Given the description of an element on the screen output the (x, y) to click on. 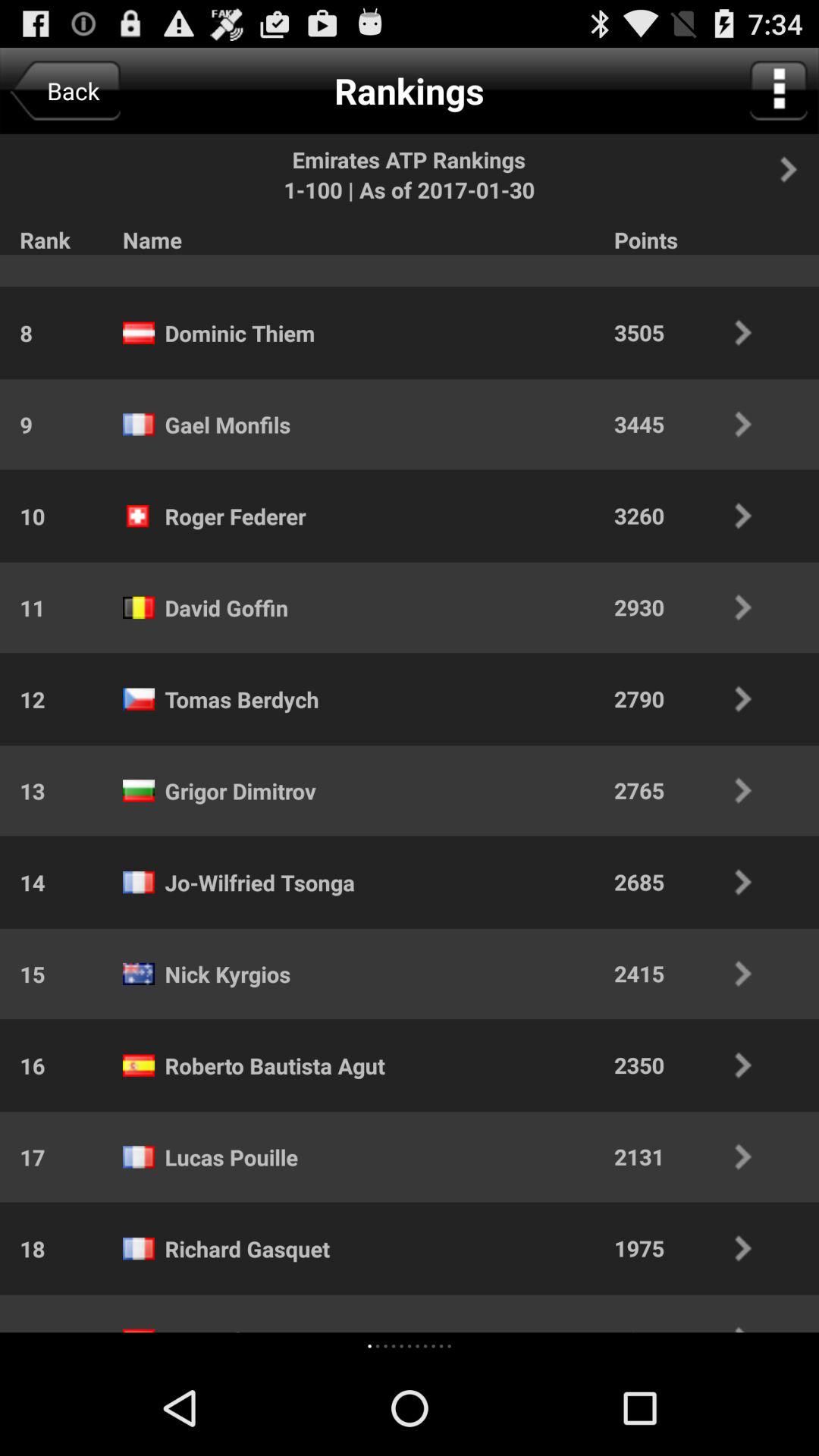
launch the app above the 2350 (693, 973)
